Given the description of an element on the screen output the (x, y) to click on. 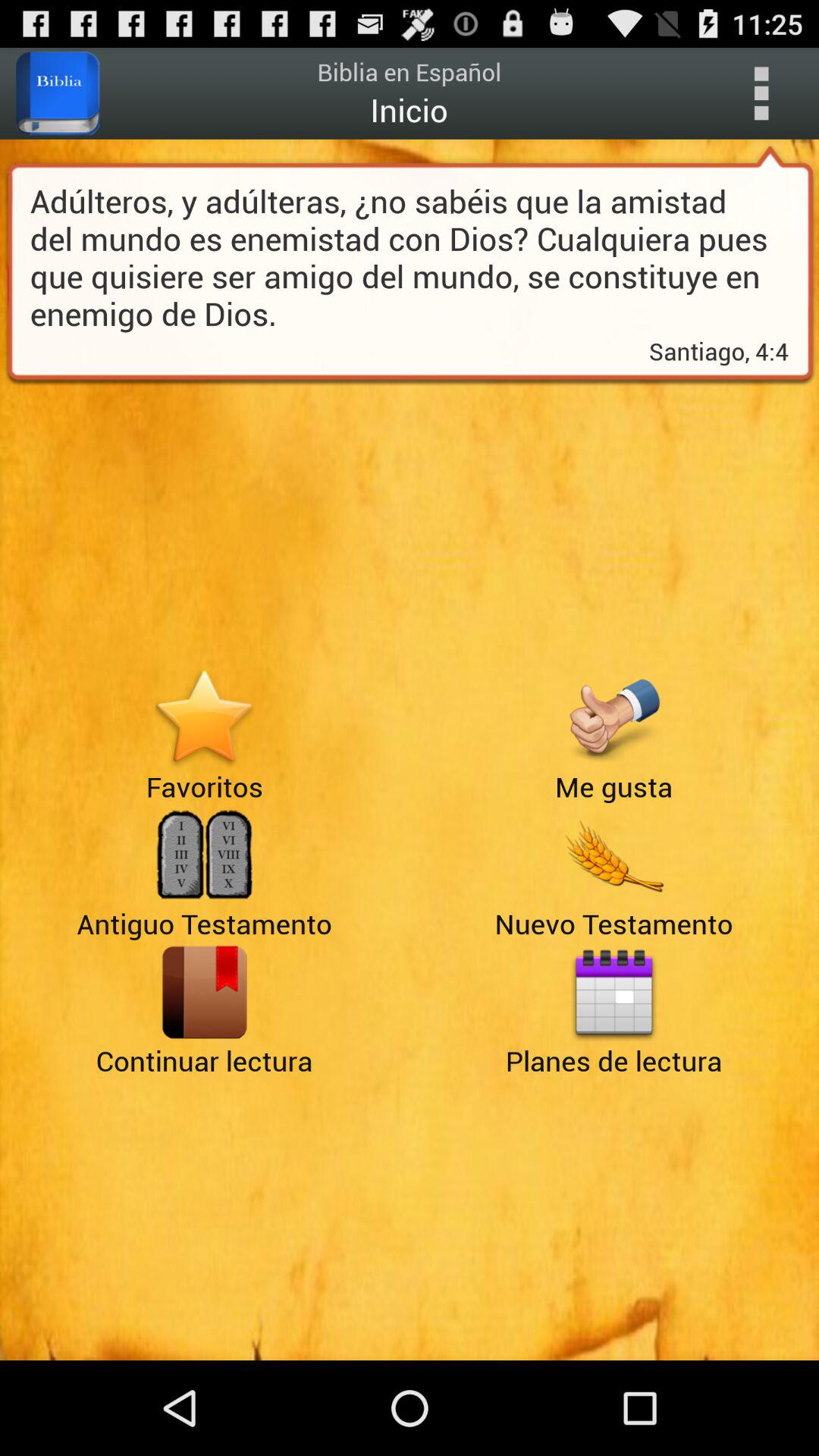
open the icon below antiguo testamento item (204, 991)
